Given the description of an element on the screen output the (x, y) to click on. 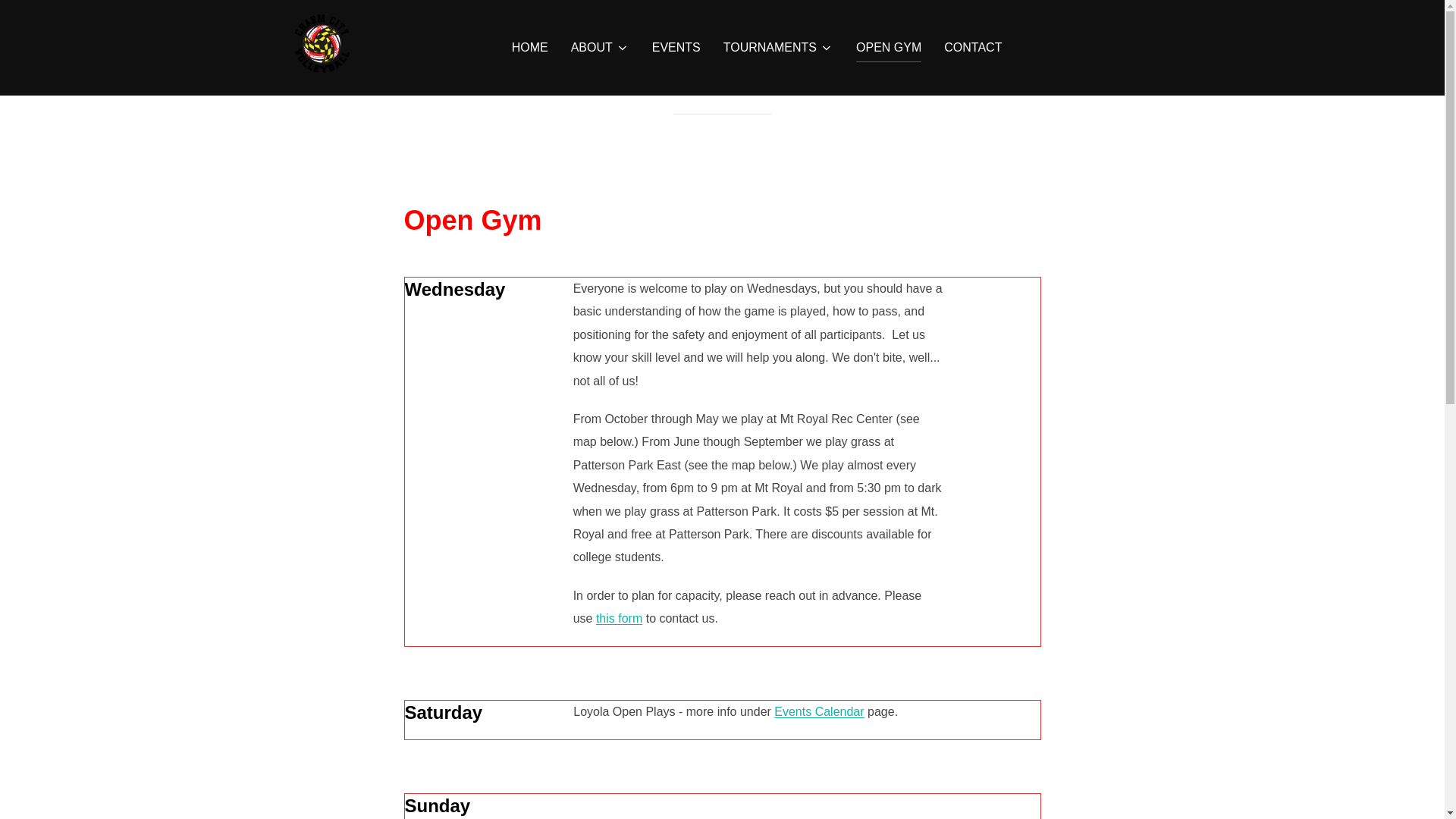
Events Calendar (818, 711)
HOME (530, 47)
TOURNAMENTS (777, 47)
this form (618, 617)
CONTACT (972, 47)
EVENTS (676, 47)
ABOUT (599, 47)
OPEN GYM (888, 47)
